Given the description of an element on the screen output the (x, y) to click on. 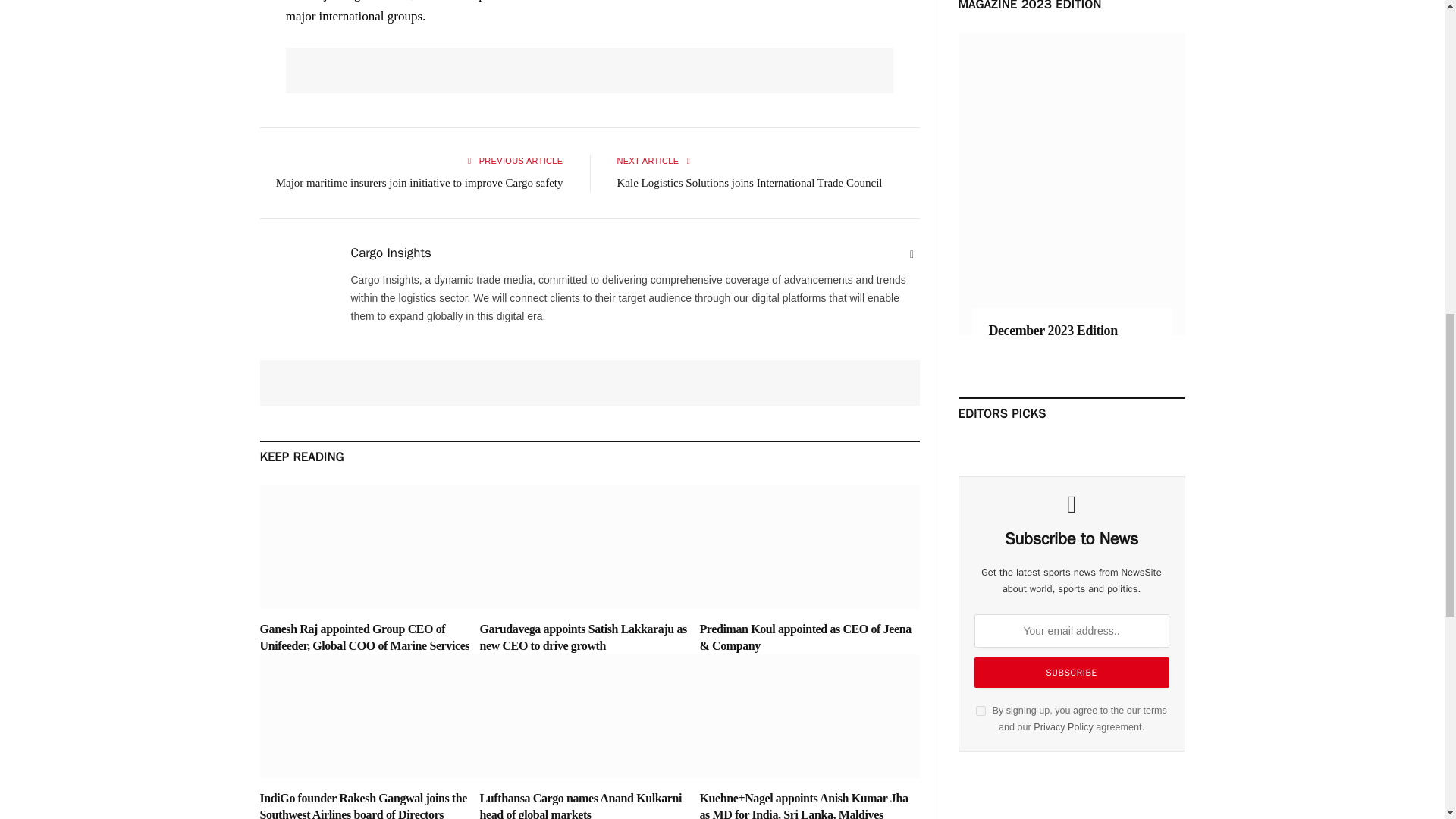
on (980, 710)
Subscribe (1071, 672)
